Given the description of an element on the screen output the (x, y) to click on. 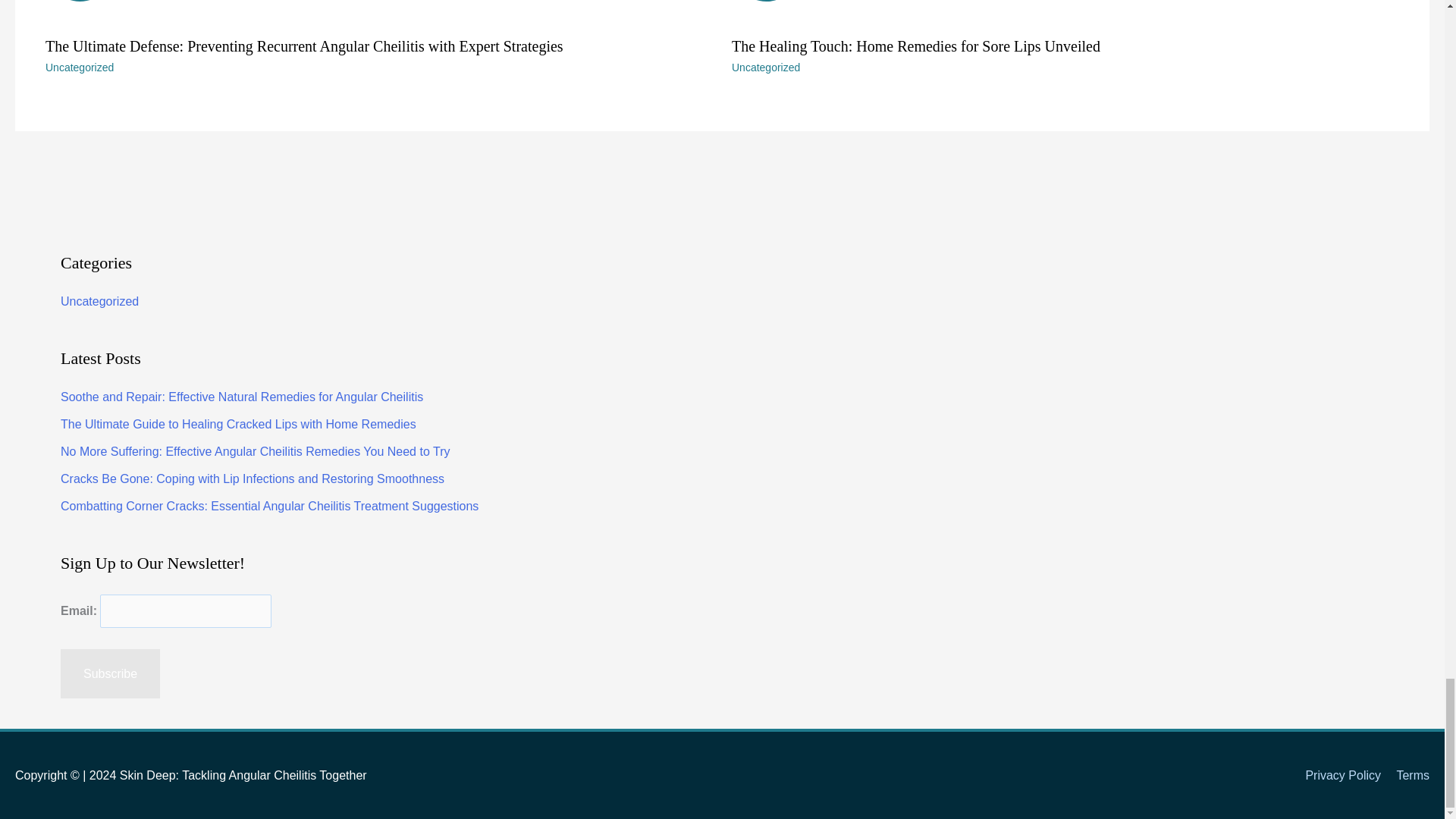
The Healing Touch: Home Remedies for Sore Lips Unveiled (916, 45)
Terms (1406, 775)
Uncategorized (99, 300)
Privacy Policy (1336, 775)
Subscribe (1065, 13)
